Given the description of an element on the screen output the (x, y) to click on. 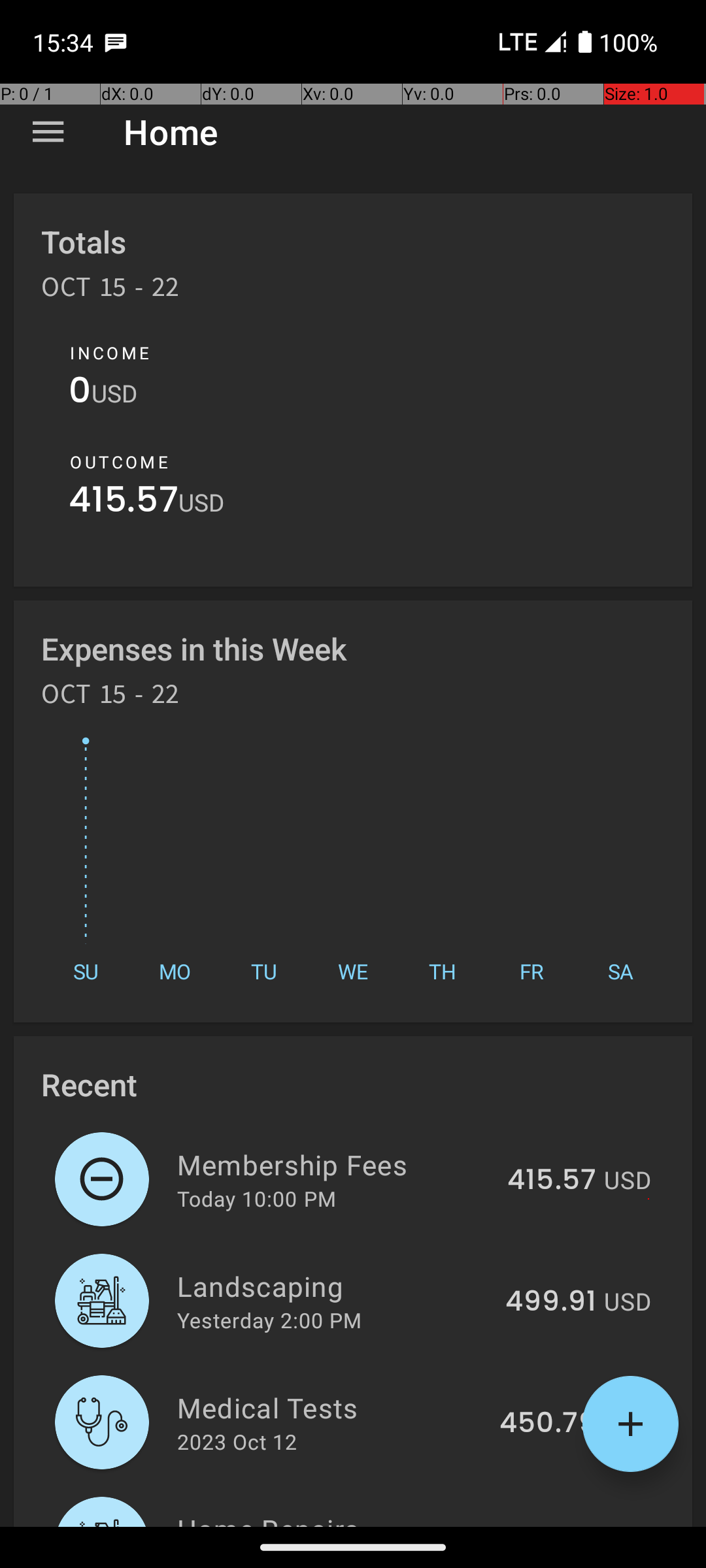
415.57 Element type: android.widget.TextView (123, 502)
Landscaping Element type: android.widget.TextView (333, 1285)
Yesterday 2:00 PM Element type: android.widget.TextView (269, 1320)
499.91 Element type: android.widget.TextView (550, 1301)
Medical Tests Element type: android.widget.TextView (330, 1407)
450.79 Element type: android.widget.TextView (547, 1423)
Home Repairs Element type: android.widget.TextView (332, 1518)
268.73 Element type: android.widget.TextView (549, 1524)
